Given the description of an element on the screen output the (x, y) to click on. 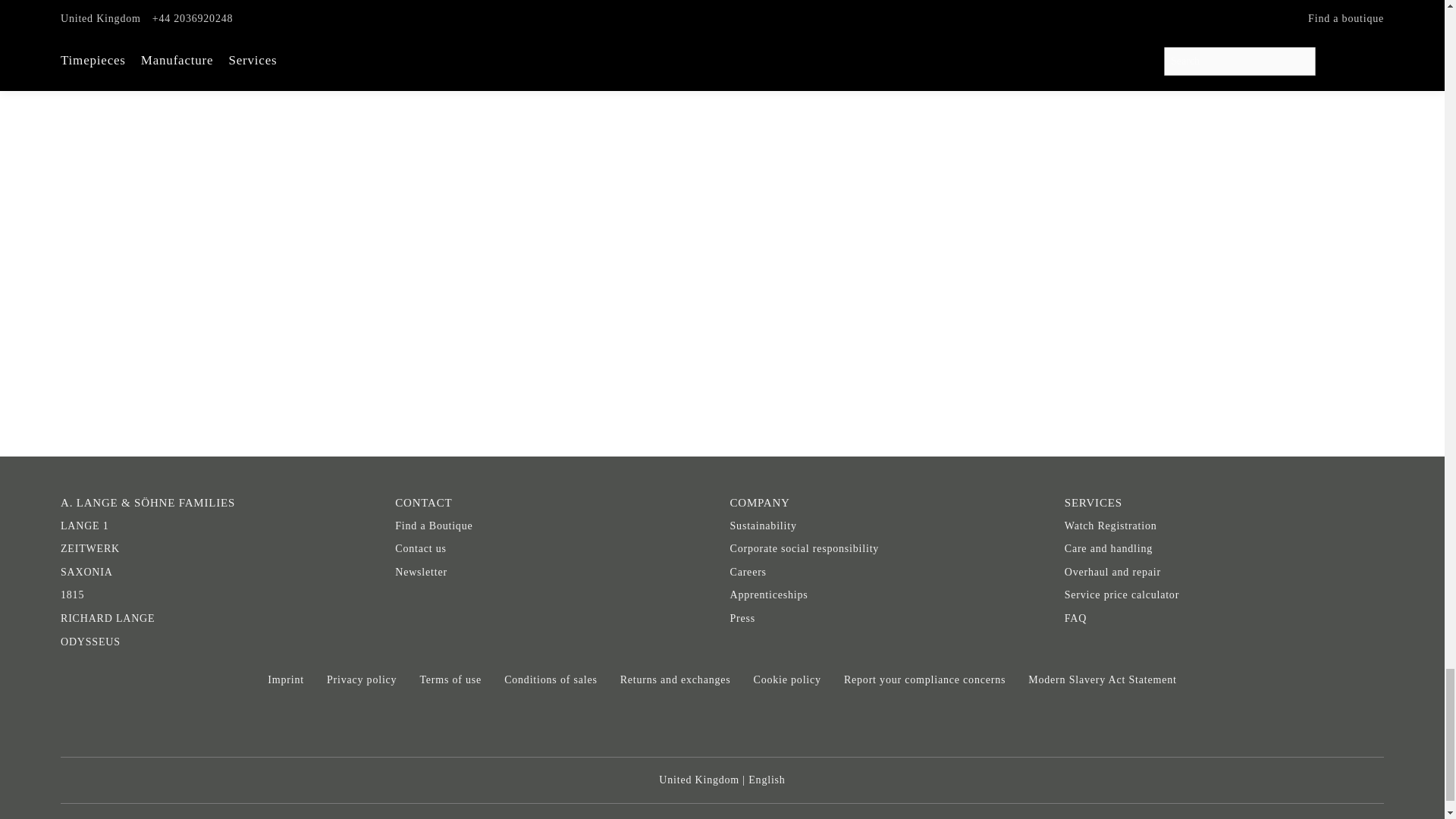
Facebook (614, 726)
YouTube (775, 726)
Select your location (722, 780)
Weibo (827, 726)
Instagram (721, 726)
Linkedin (668, 726)
